Given the description of an element on the screen output the (x, y) to click on. 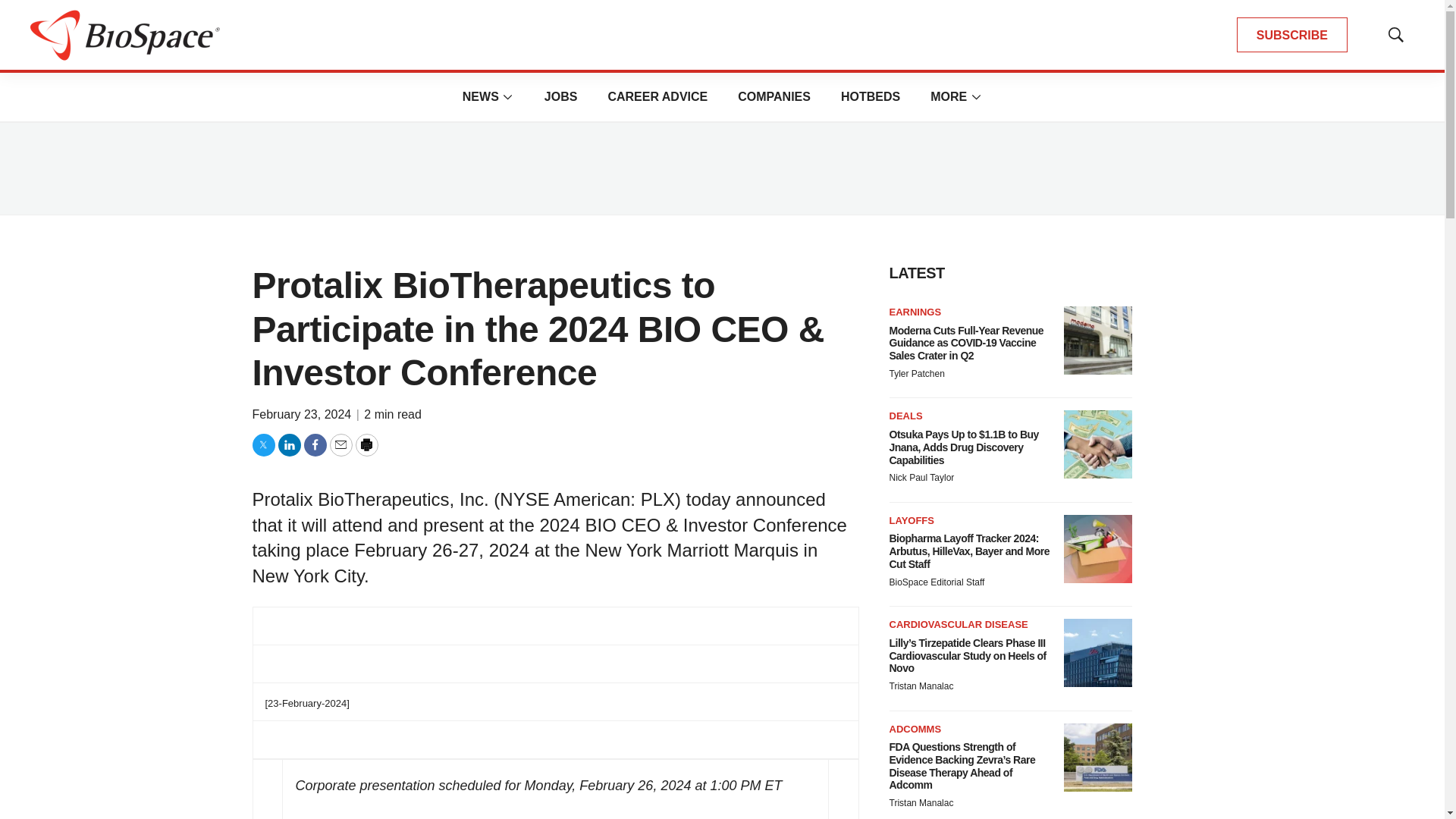
3rd party ad content (721, 168)
Show Search (1395, 34)
SUBSCRIBE (1292, 34)
NEWS (481, 96)
